Given the description of an element on the screen output the (x, y) to click on. 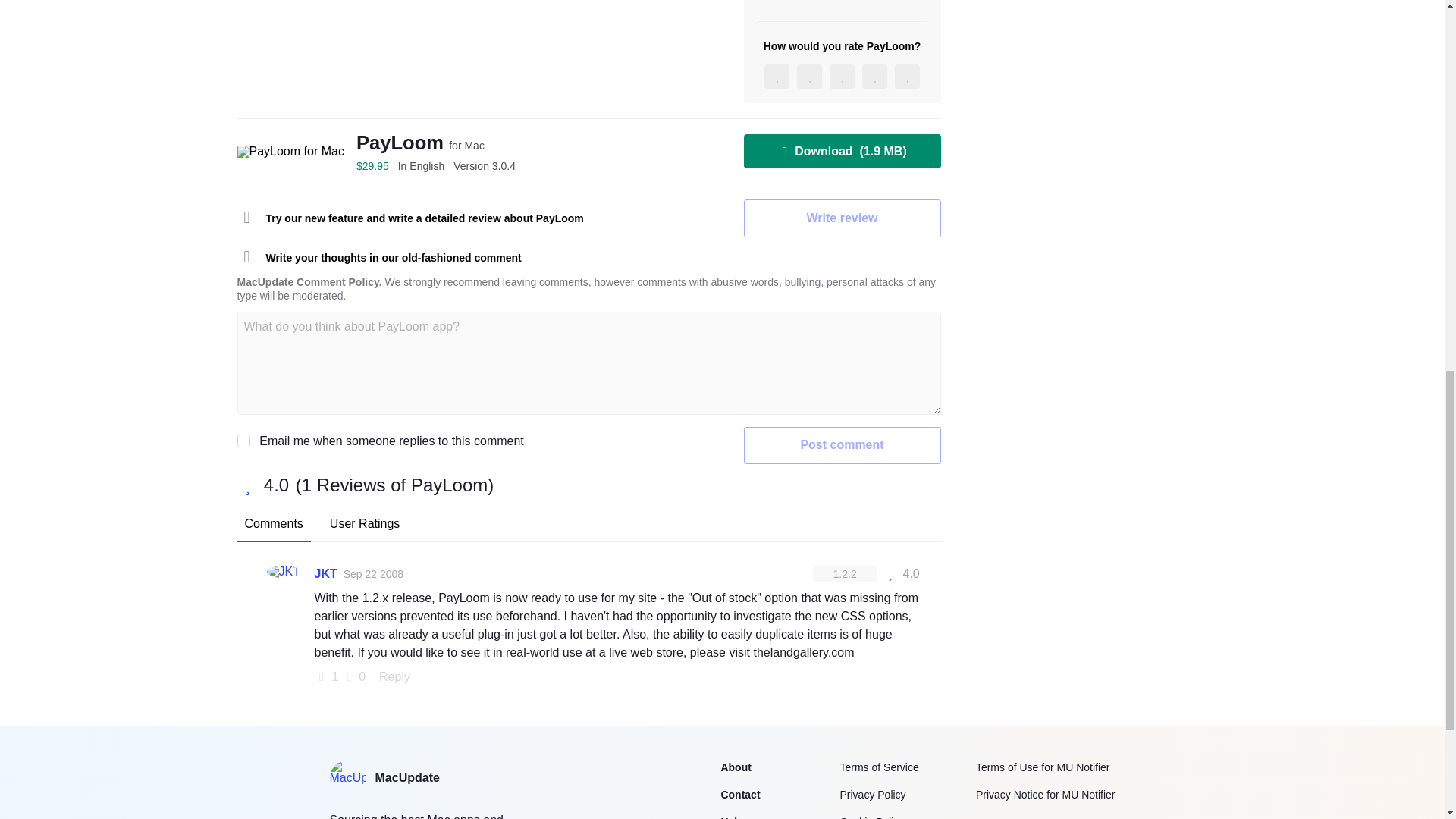
Version: 1.2.2 (844, 573)
3.0.4 (483, 165)
JKT (325, 574)
